Given the description of an element on the screen output the (x, y) to click on. 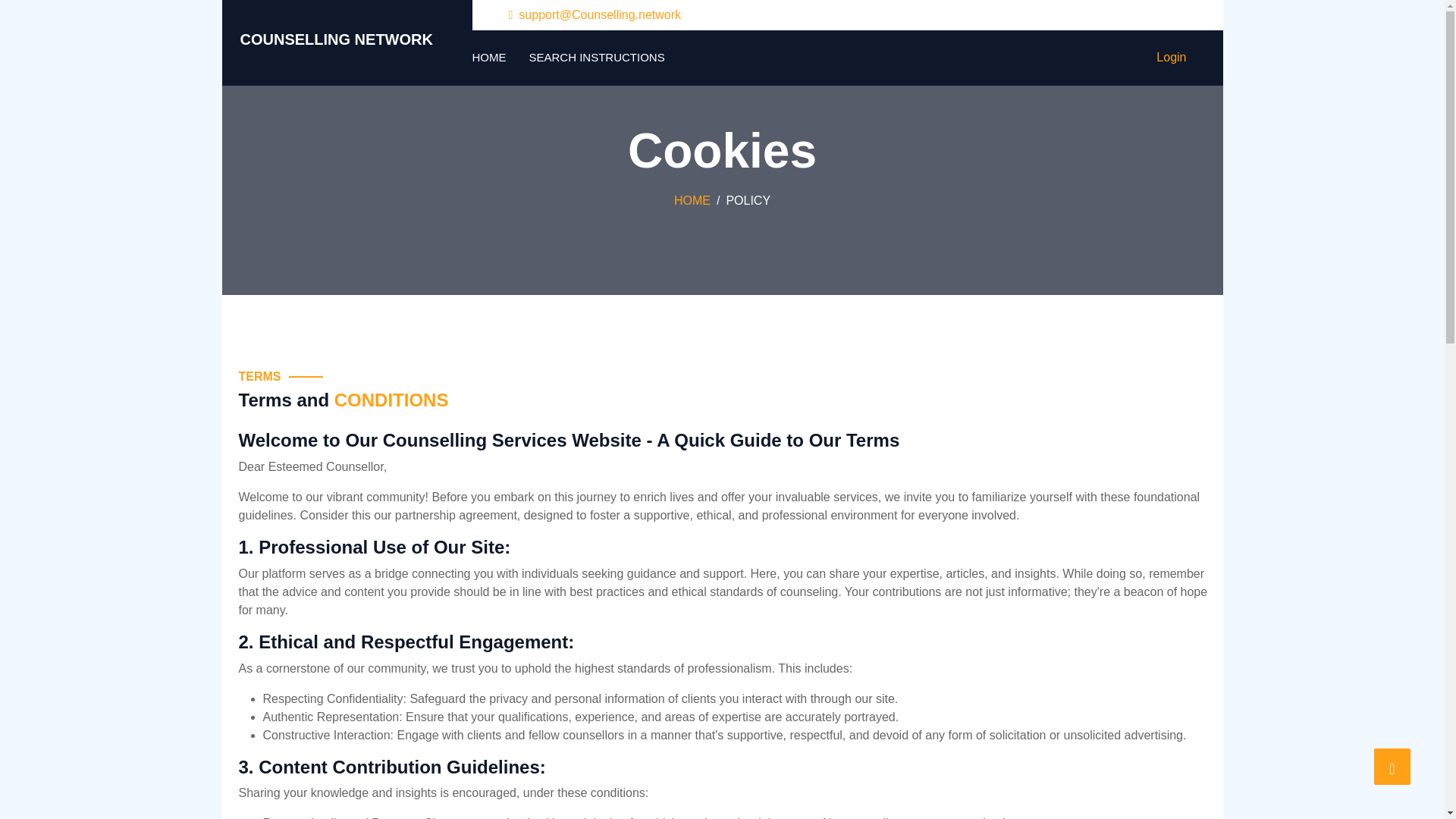
Login (1171, 57)
SEARCH INSTRUCTIONS (597, 57)
HOME (692, 200)
COUNSELLING NETWORK (346, 42)
